Given the description of an element on the screen output the (x, y) to click on. 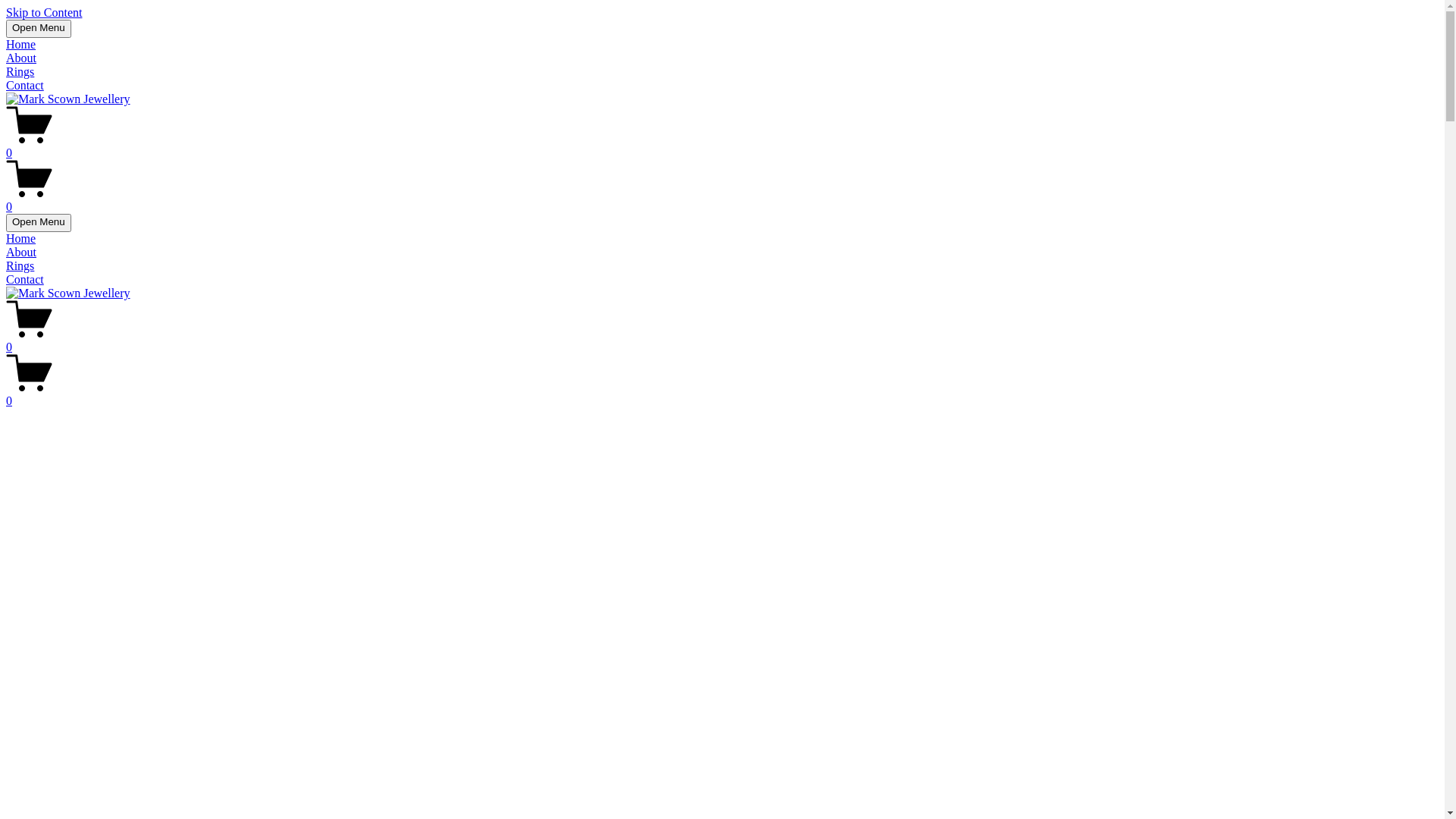
Home Element type: text (20, 43)
Open Menu Element type: text (38, 222)
0 Element type: text (722, 340)
Rings Element type: text (20, 265)
Rings Element type: text (20, 71)
Open Menu Element type: text (38, 28)
0 Element type: text (722, 393)
Contact Element type: text (24, 84)
About Element type: text (21, 251)
Contact Element type: text (24, 279)
0 Element type: text (722, 146)
0 Element type: text (722, 199)
About Element type: text (21, 57)
Home Element type: text (20, 238)
Skip to Content Element type: text (43, 12)
